Given the description of an element on the screen output the (x, y) to click on. 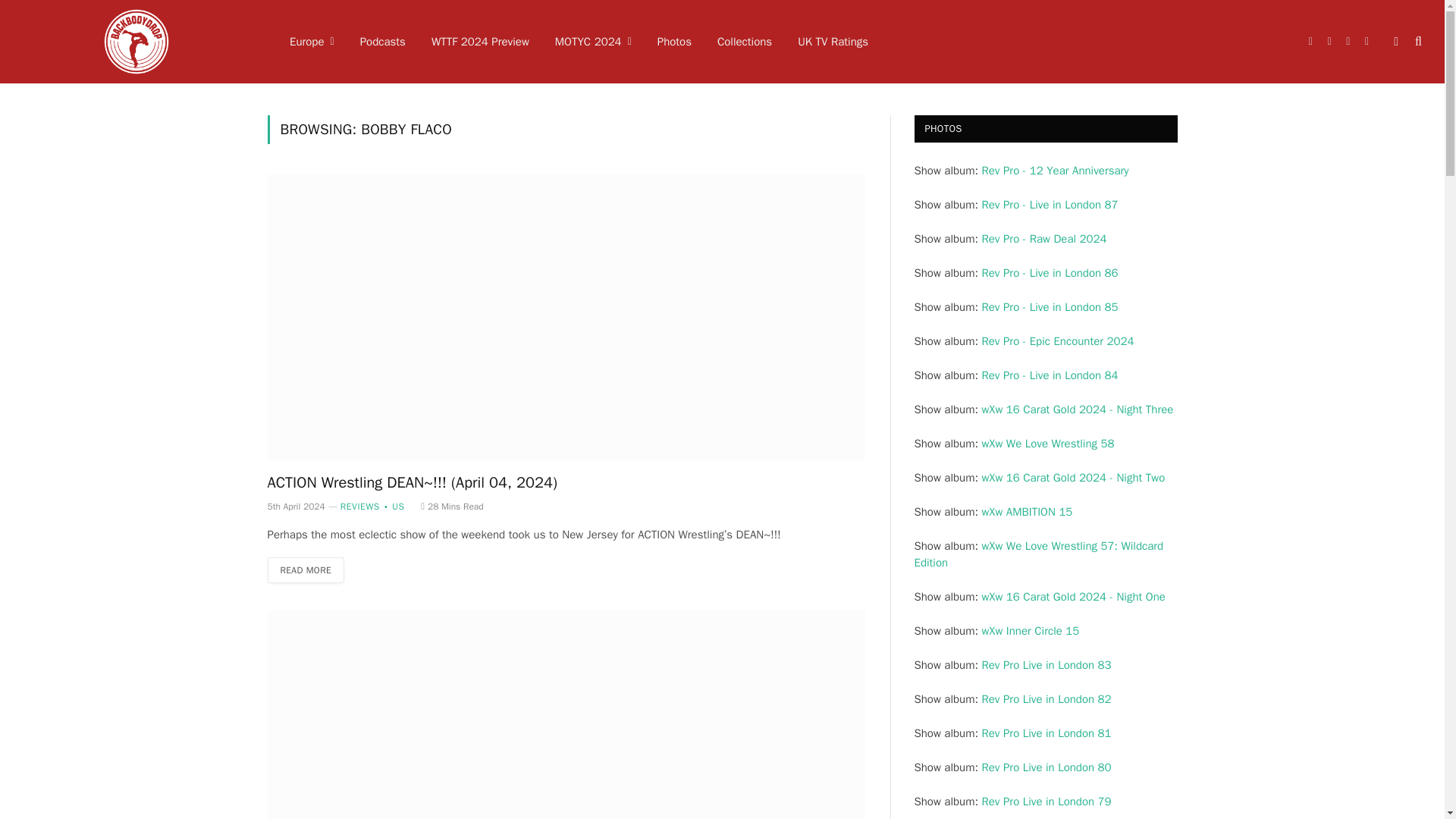
MOTYC 2024 (593, 41)
US (392, 506)
READ MORE (304, 570)
BackBodyDrop.com (136, 41)
Collections (744, 41)
UK TV Ratings (832, 41)
WTTF 2024 Preview (480, 41)
Switch to Dark Design - easier on eyes. (1396, 41)
REVIEWS (360, 506)
